Given the description of an element on the screen output the (x, y) to click on. 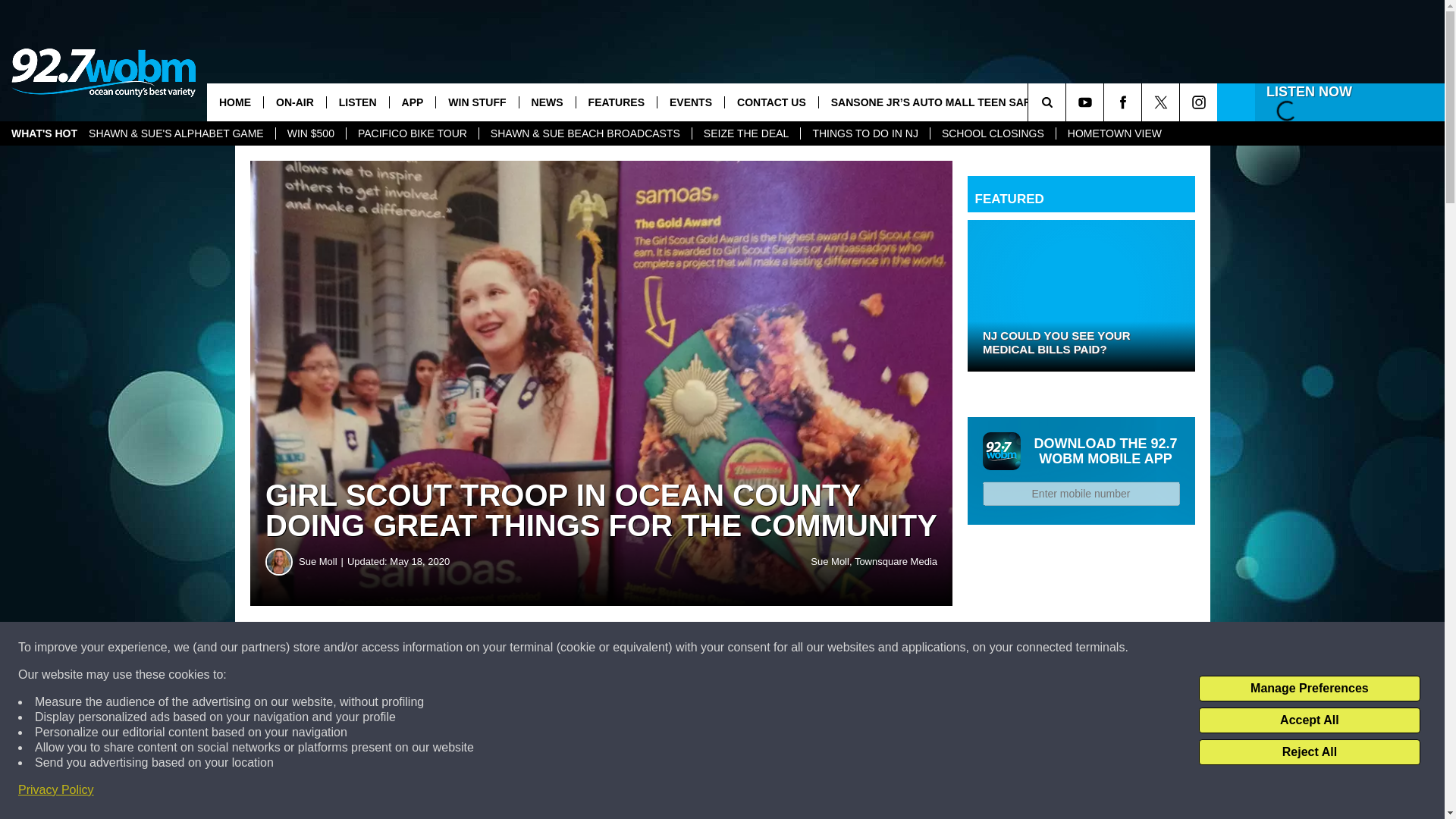
Reject All (1309, 751)
SEARCH (1068, 102)
SEIZE THE DEAL (745, 133)
SEARCH (1068, 102)
LISTEN (357, 102)
THINGS TO DO IN NJ (864, 133)
Share on Twitter (741, 647)
PACIFICO BIKE TOUR (412, 133)
Accept All (1309, 720)
SCHOOL CLOSINGS (992, 133)
